Given the description of an element on the screen output the (x, y) to click on. 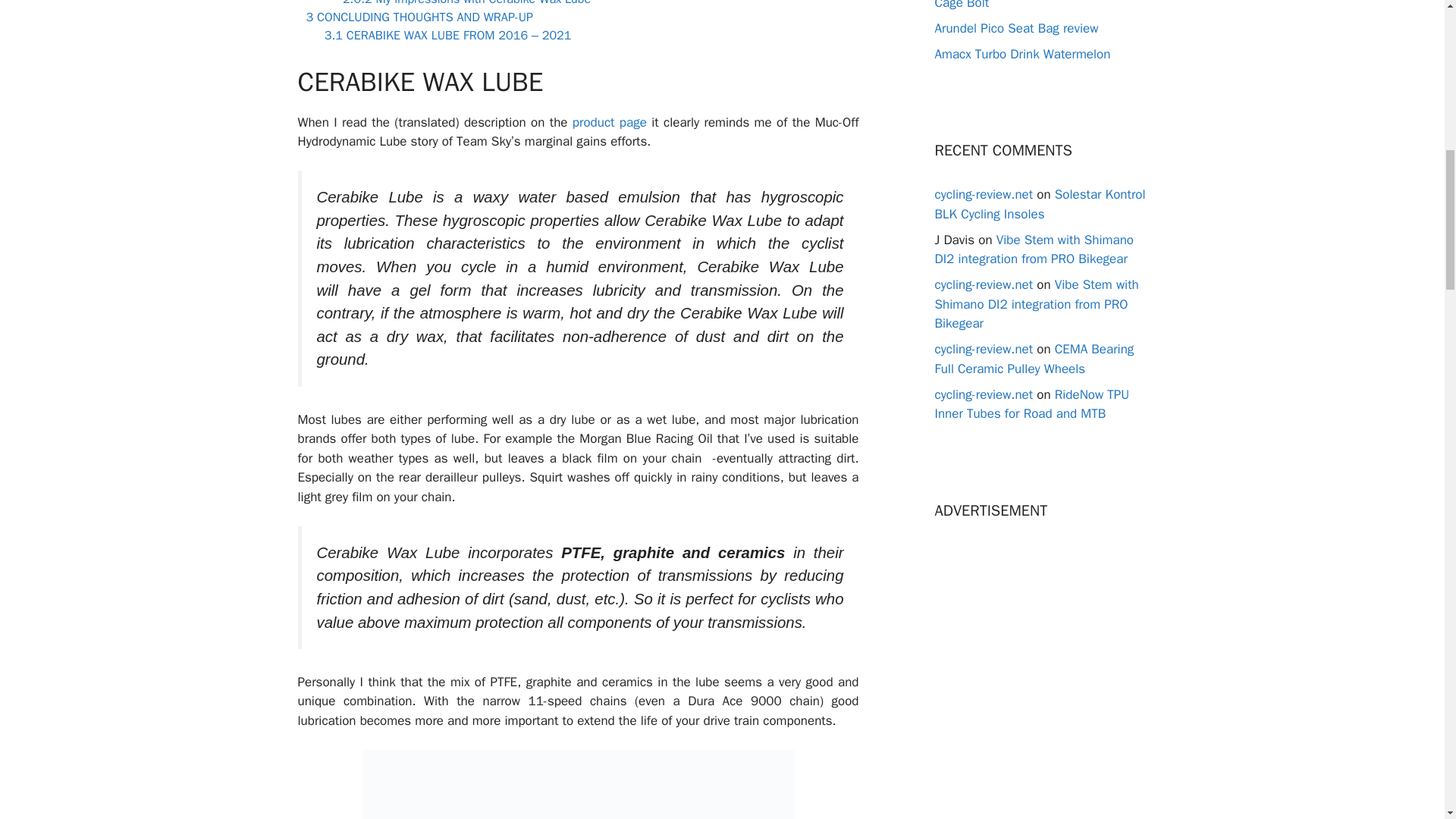
product page (609, 122)
3 CONCLUDING THOUGHTS AND WRAP-UP (419, 17)
2.0.2 My impressions with Cerabike Wax Lube (466, 3)
